Given the description of an element on the screen output the (x, y) to click on. 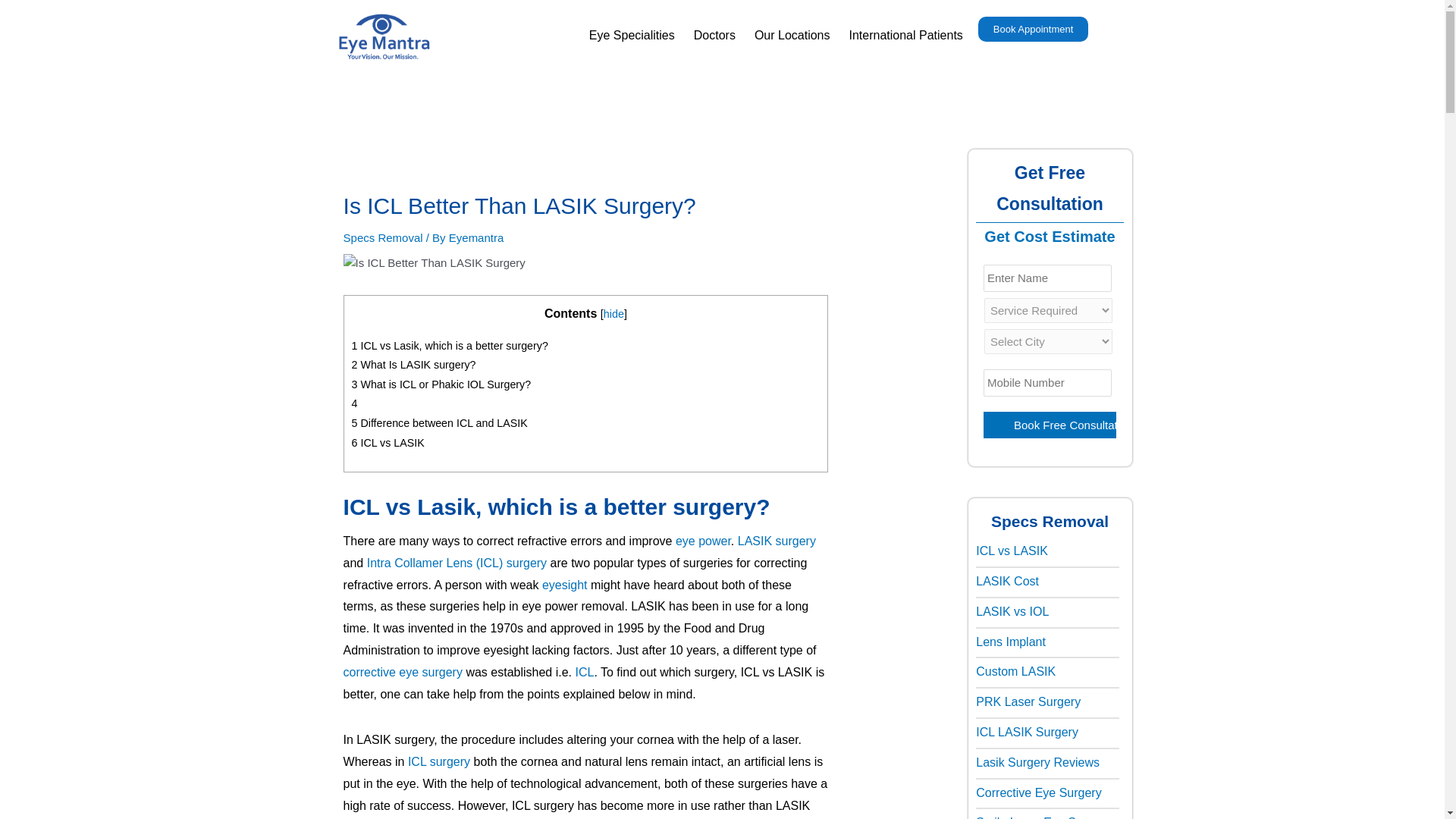
Our Locations (791, 35)
Eye Specialities (632, 35)
Lasik Surgery (776, 540)
Book Free Consultation (1050, 424)
Doctors (714, 35)
ICL Surgery (438, 761)
International Patients (905, 35)
ICL (584, 671)
View all posts by Eyemantra (475, 237)
eye power (702, 540)
